Given the description of an element on the screen output the (x, y) to click on. 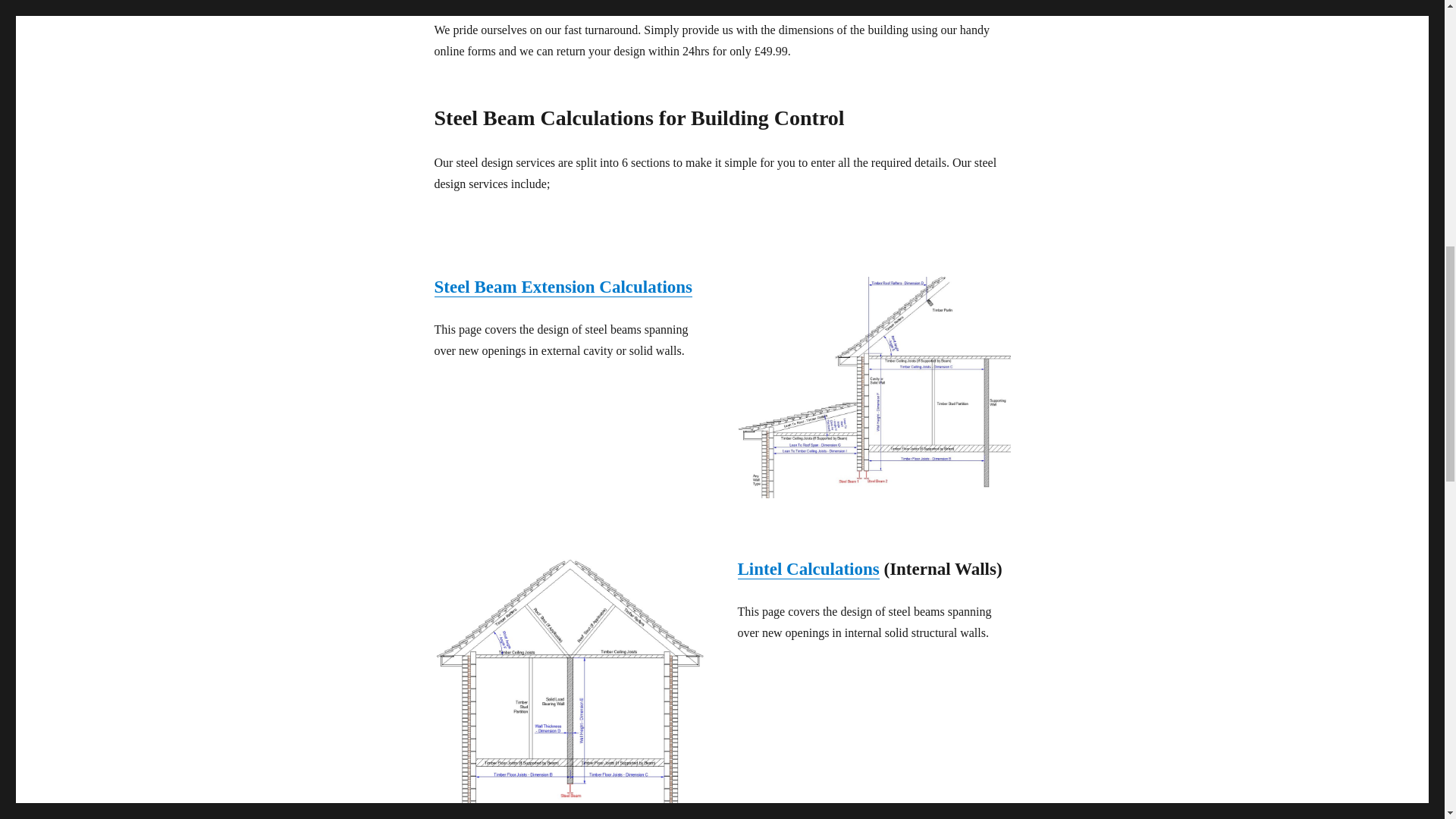
Lintel Calculations (807, 568)
Steel Beam Extension (873, 386)
Lintel Calculations (569, 682)
Steel Beam Extension Calculations (563, 286)
